Given the description of an element on the screen output the (x, y) to click on. 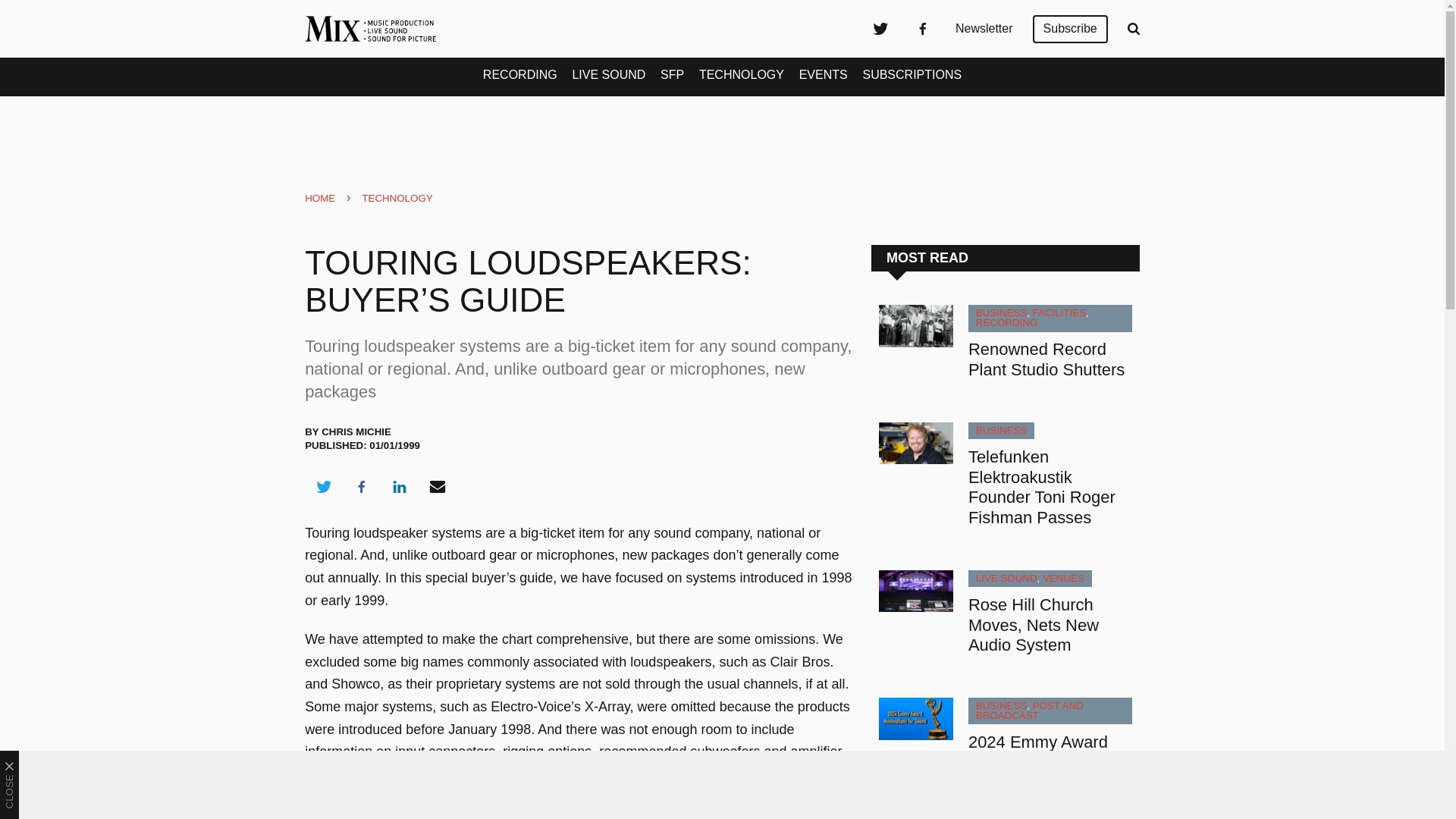
Share on Twitter (323, 486)
Share on Facebook (361, 486)
Share on LinkedIn (399, 486)
Share via Email (438, 486)
